Given the description of an element on the screen output the (x, y) to click on. 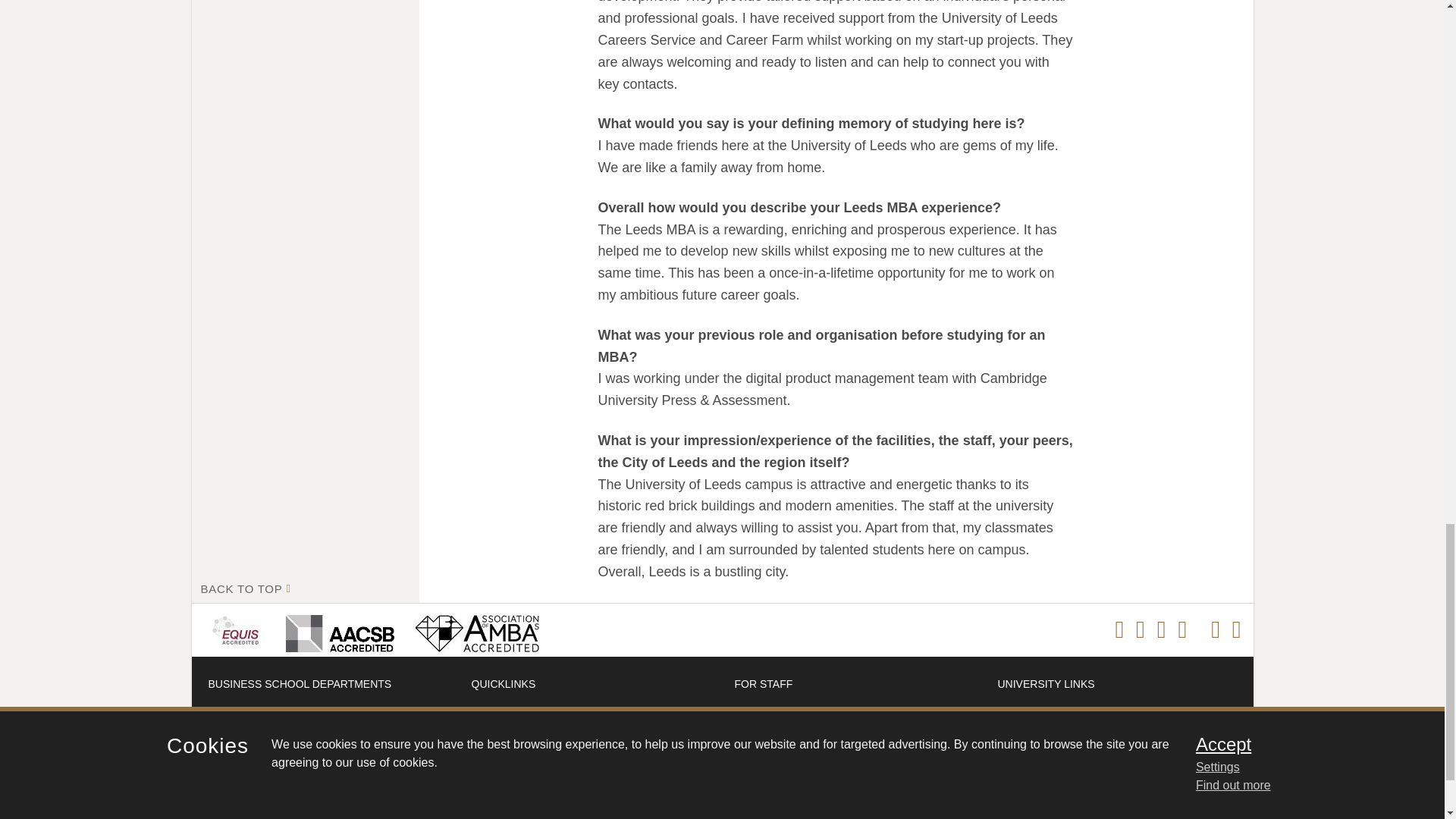
Visit 3-AMBA (472, 629)
Visit 1-EFMD (237, 629)
Visit 2-AACSB (337, 629)
